Given the description of an element on the screen output the (x, y) to click on. 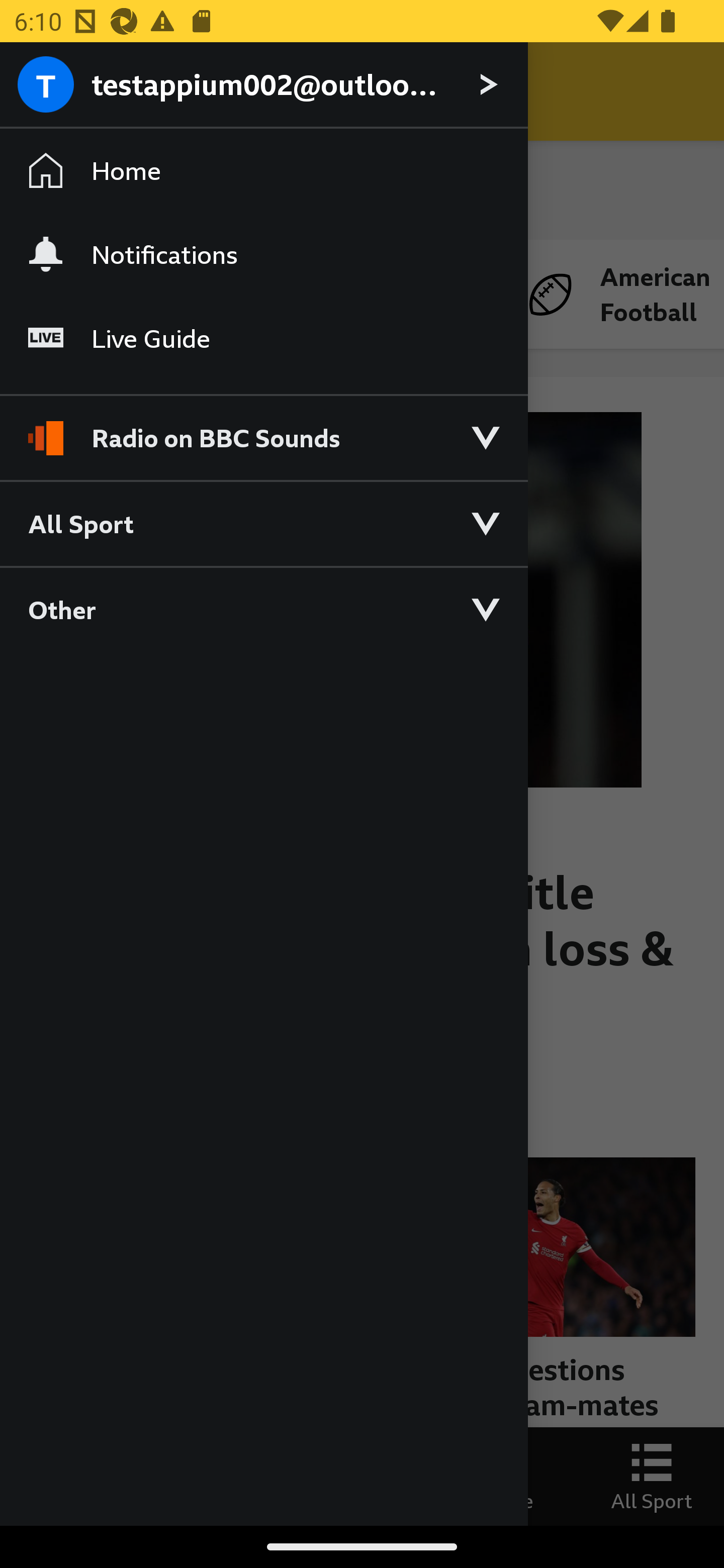
testappium002@outlook.com (263, 85)
Home (263, 170)
Notifications (263, 253)
Live Guide (263, 338)
Radio on BBC Sounds (263, 429)
All Sport (263, 522)
Other (263, 609)
